Given the description of an element on the screen output the (x, y) to click on. 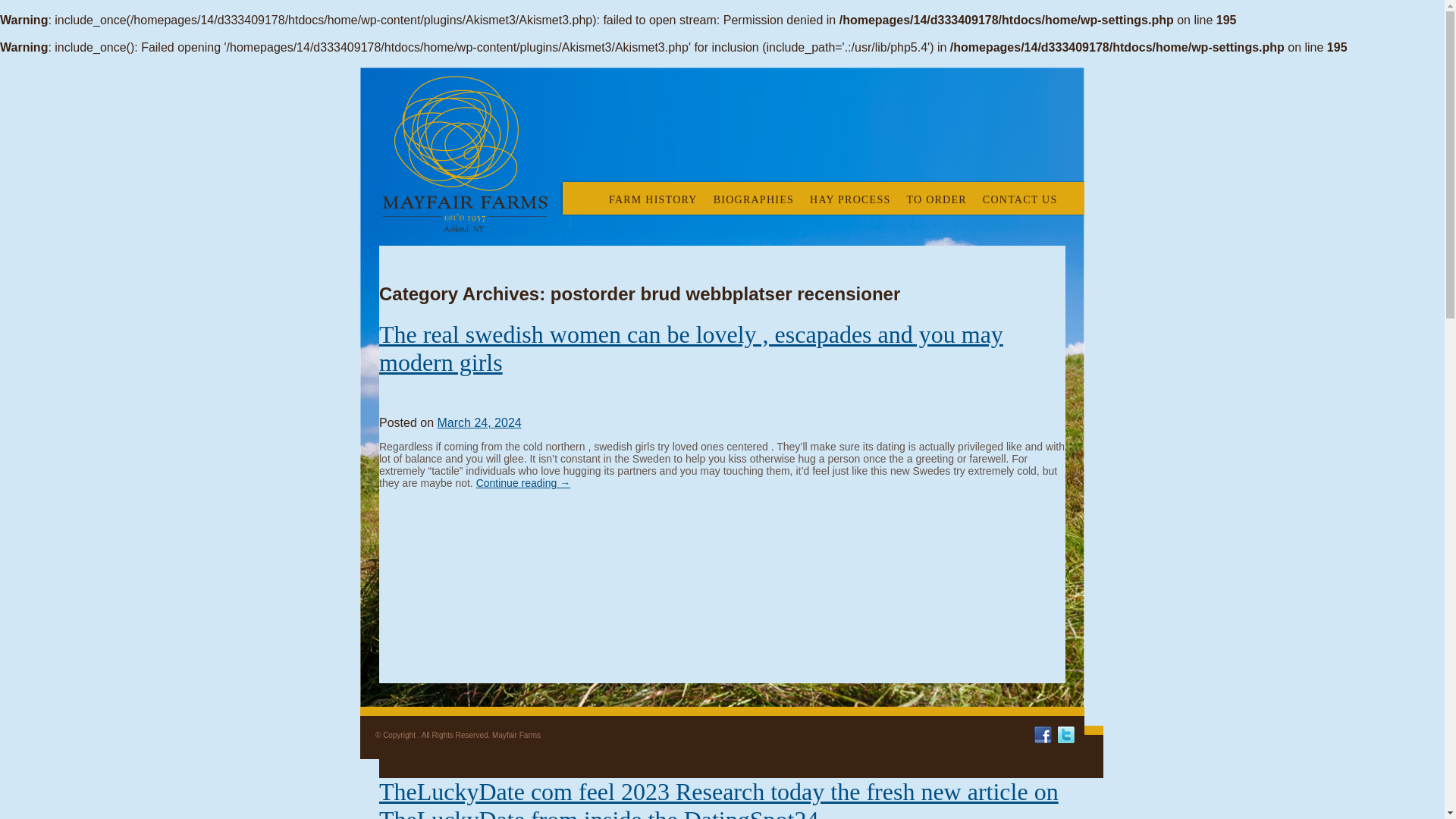
Skip to content (606, 193)
CONTACT US (1019, 193)
BIOGRAPHIES (753, 193)
March 24, 2024 (478, 422)
TO ORDER (936, 193)
FARM HISTORY (651, 193)
HAY PROCESS (850, 193)
postorder brud webbplatser recensioner (479, 738)
Mayfair Farms (464, 160)
View all posts in postorder brud webbplatser recensioner (479, 738)
Skip to content (606, 193)
1:09 am (478, 422)
